Given the description of an element on the screen output the (x, y) to click on. 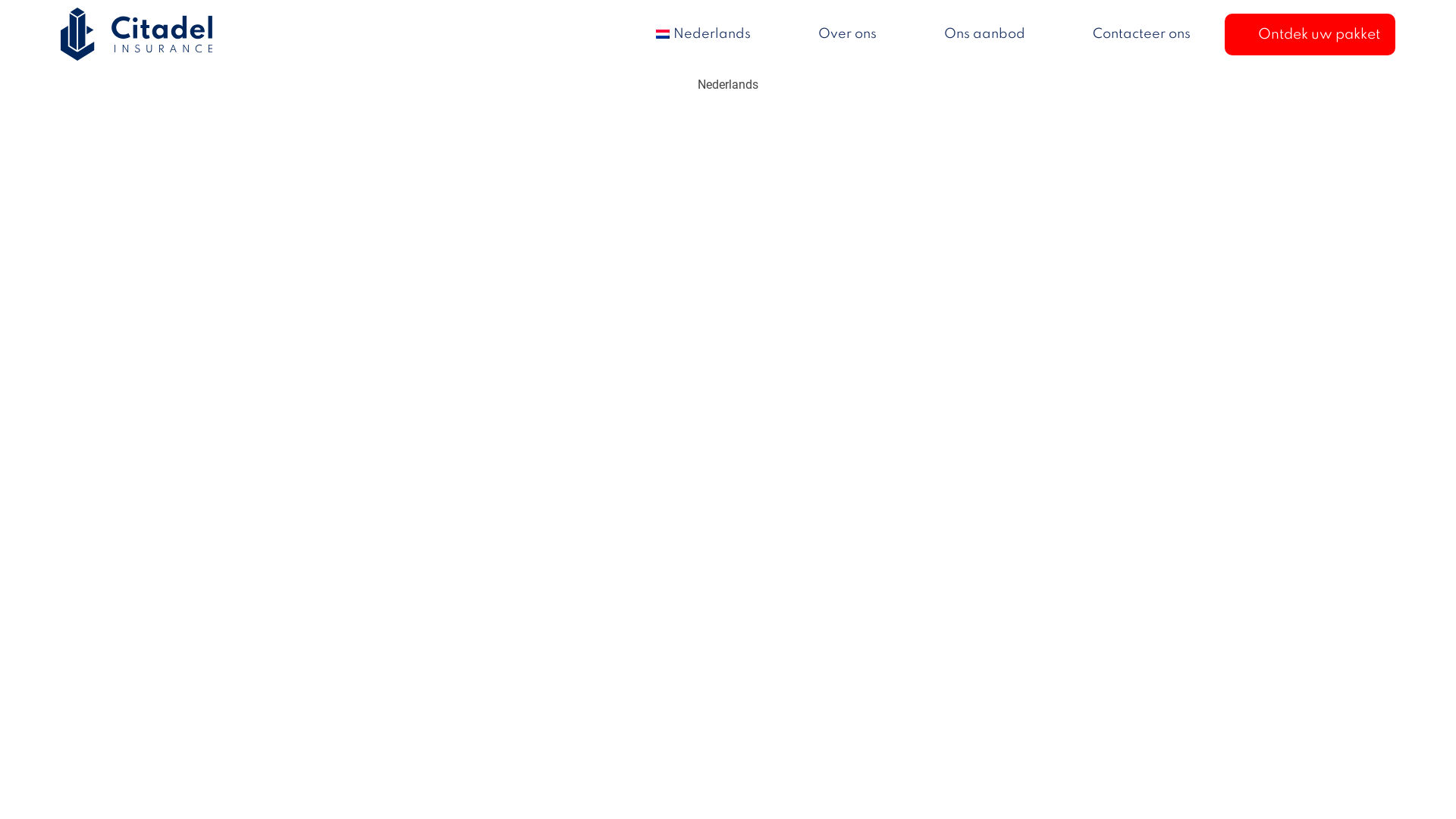
Contacteer ons Element type: text (1141, 34)
Ontdek uw pakket Element type: text (1318, 34)
Nederlands Element type: text (702, 34)
Nederlands Element type: text (727, 84)
Over ons Element type: text (847, 34)
Ons aanbod Element type: text (984, 34)
